Given the description of an element on the screen output the (x, y) to click on. 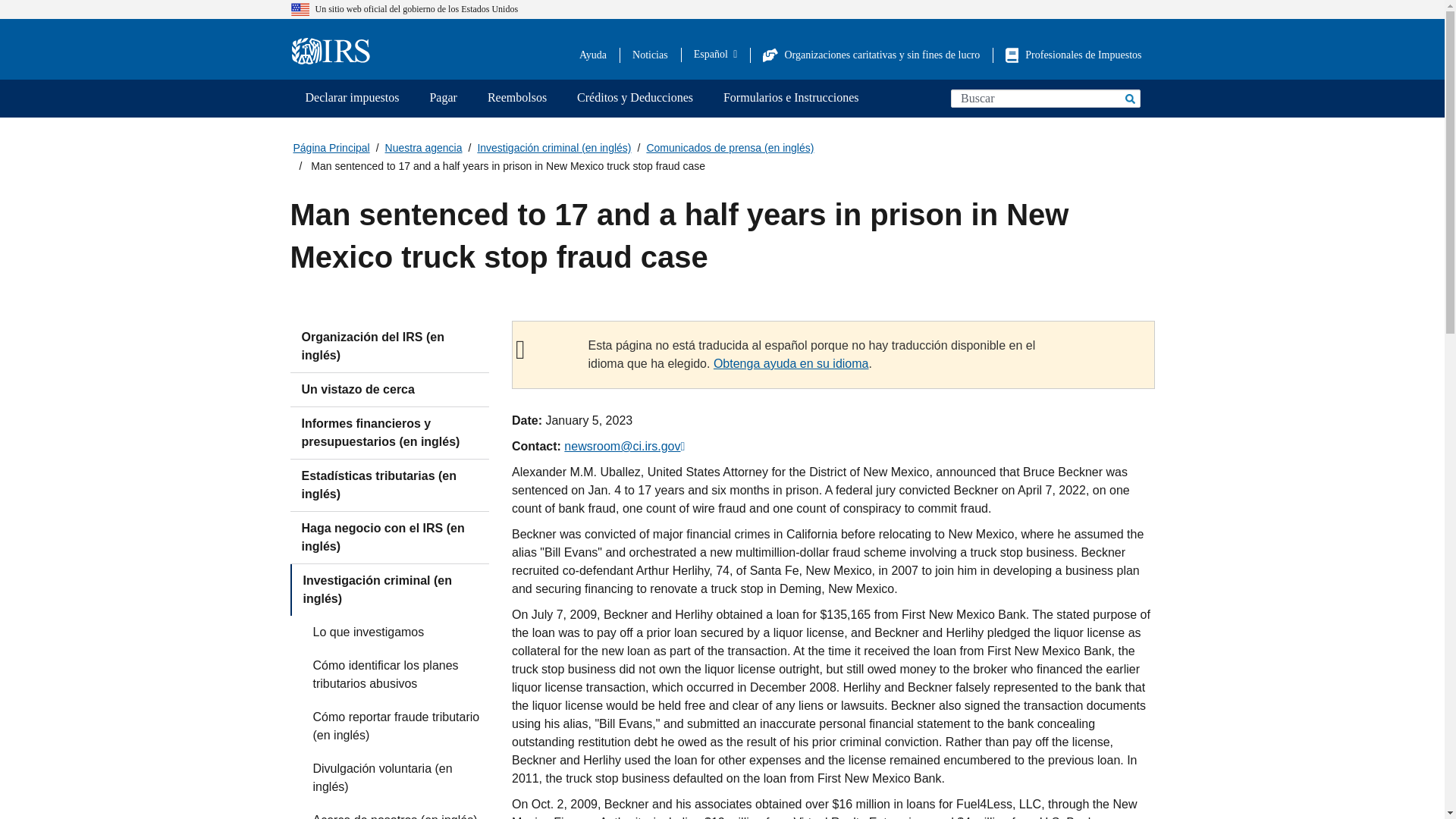
Declarar impuestos (351, 98)
Organizaciones caritativas y sin fines de lucro (870, 55)
Buscar (1129, 98)
Ayuda (593, 55)
Noticias (649, 55)
Noticias (649, 55)
Profesionales de Impuestos (1073, 55)
Pagar (442, 98)
Ayuda (593, 55)
